Given the description of an element on the screen output the (x, y) to click on. 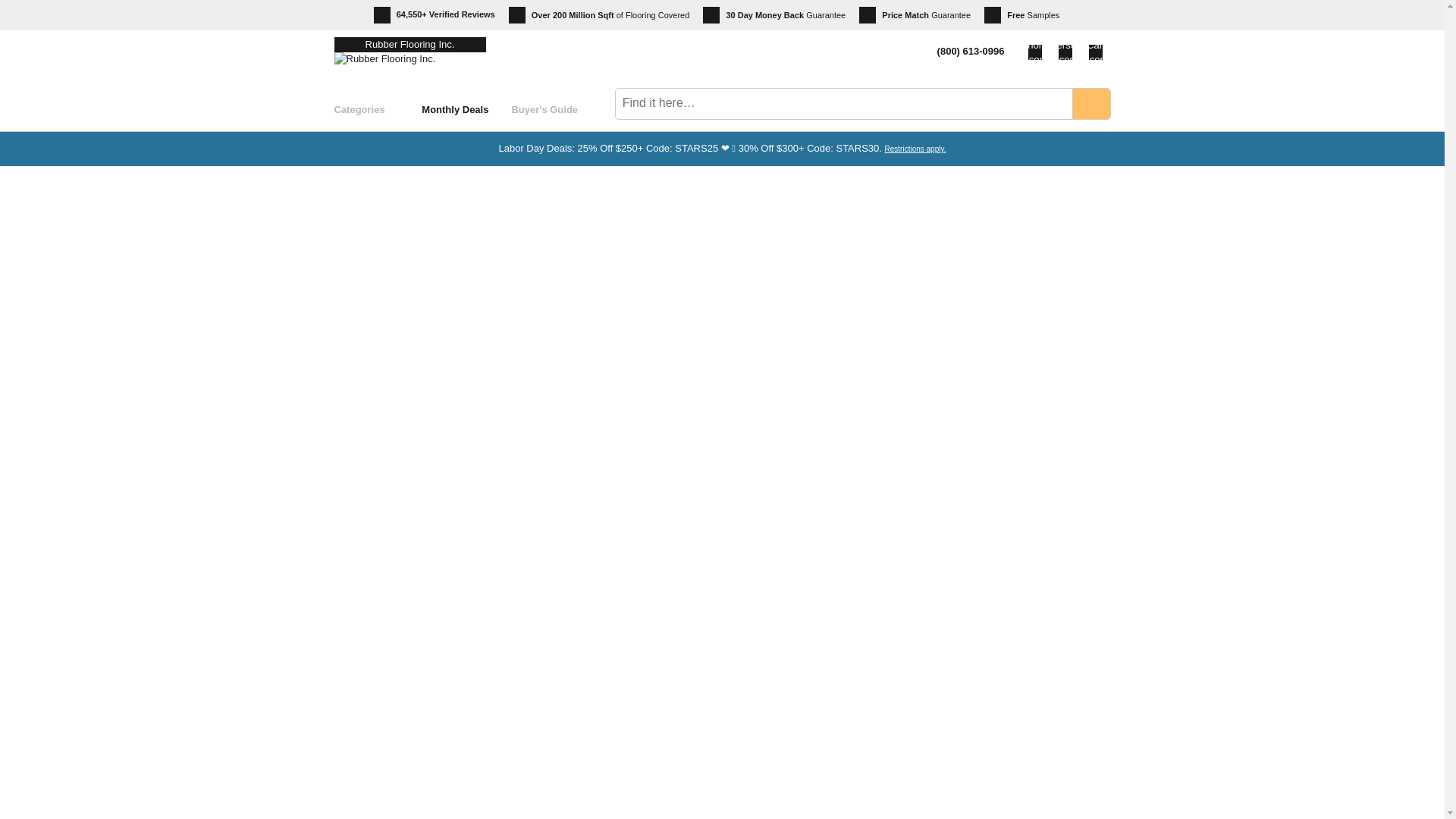
30 Day Money Back Guarantee (774, 14)
Free Samples (1021, 14)
Categories (377, 109)
Price Match Guarantee (915, 14)
square feet (604, 14)
Search (1090, 103)
